Given the description of an element on the screen output the (x, y) to click on. 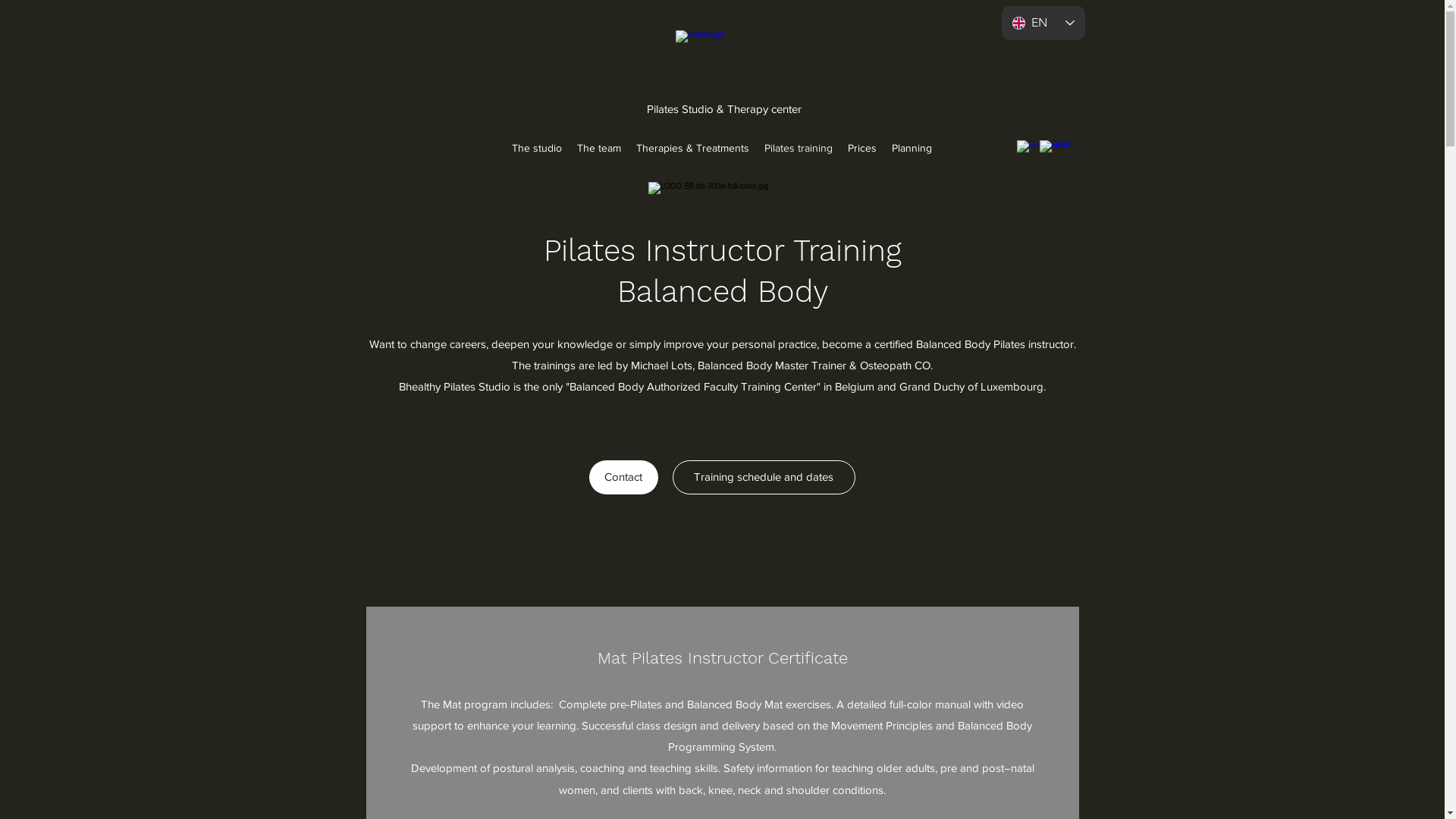
Therapies & Treatments Element type: text (691, 147)
Training schedule and dates Element type: text (762, 476)
Prices Element type: text (862, 147)
Pilates training Element type: text (798, 147)
Contact Element type: text (622, 476)
The studio Element type: text (535, 147)
Planning Element type: text (911, 147)
The team Element type: text (597, 147)
